Given the description of an element on the screen output the (x, y) to click on. 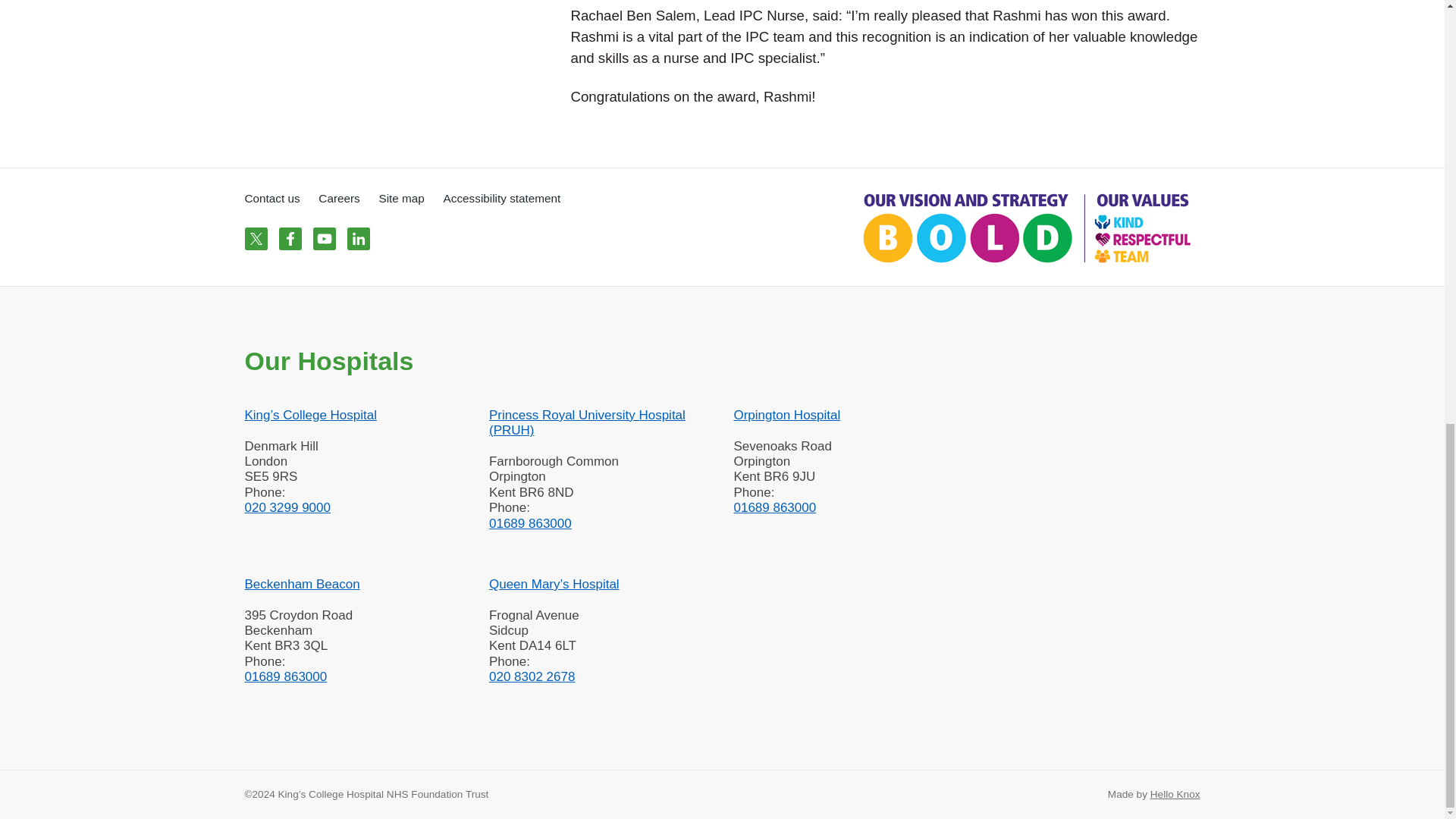
Careers (338, 197)
Accessibility statement (502, 197)
Contact us (271, 197)
020 3299 9000 (354, 507)
Site map (401, 197)
